Given the description of an element on the screen output the (x, y) to click on. 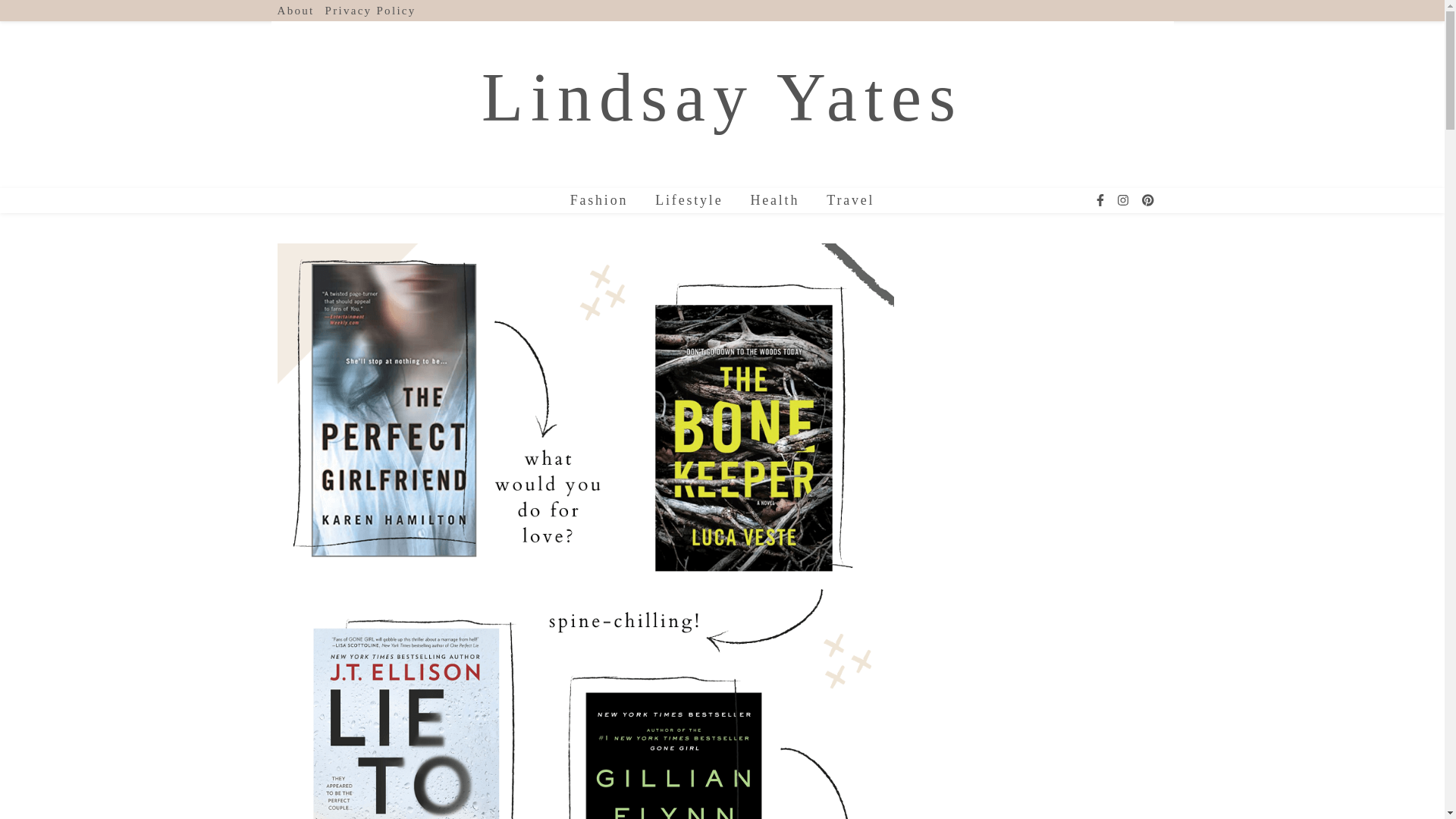
Lindsay Yates (721, 97)
About (298, 10)
Travel (844, 200)
Fashion (605, 200)
Lifestyle (689, 200)
Privacy Policy (368, 10)
Health (774, 200)
